Given the description of an element on the screen output the (x, y) to click on. 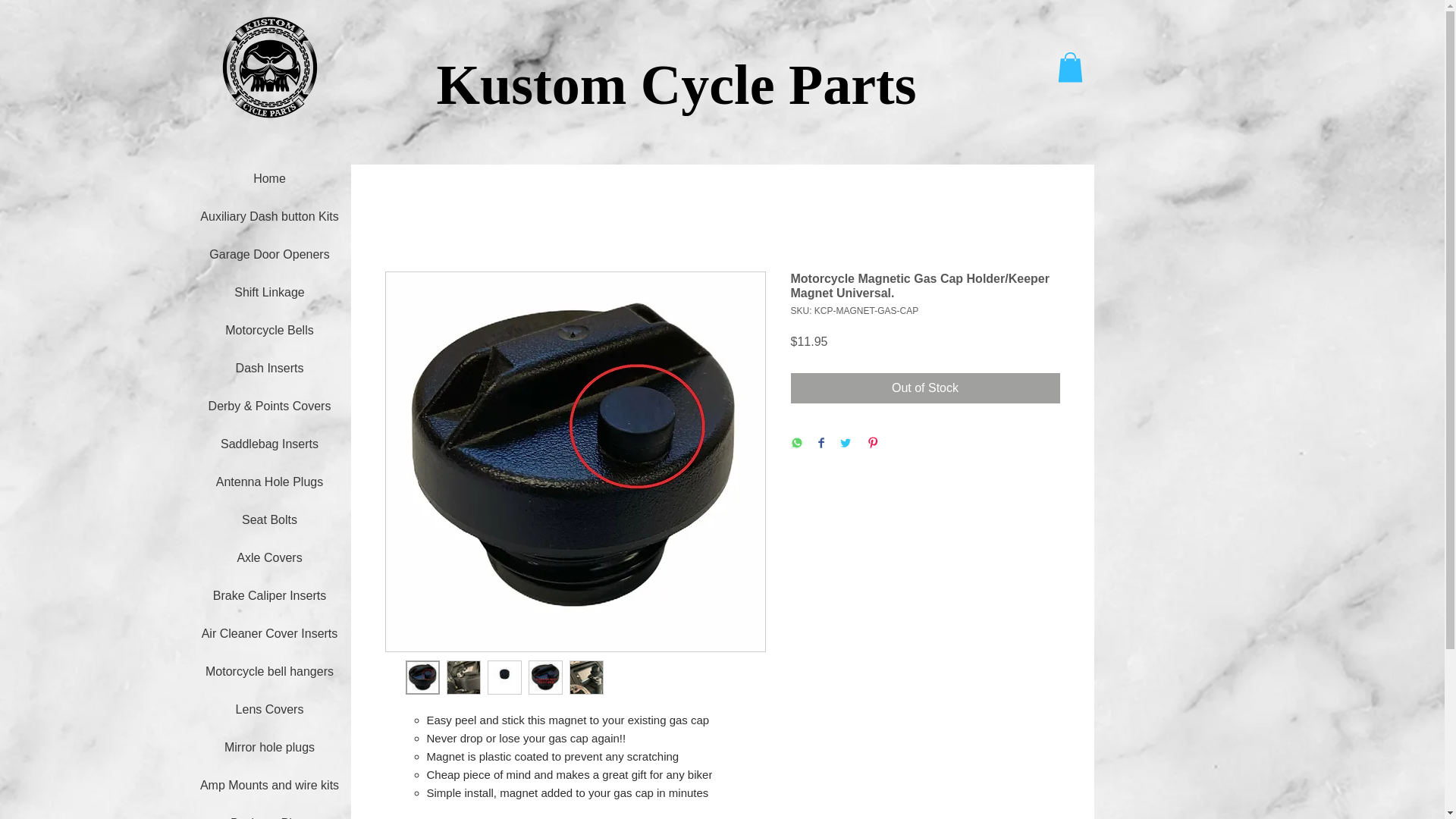
Garage Door Openers (269, 254)
Auxiliary Dash button Kits (269, 216)
Dash Inserts (269, 367)
Motorcycle Bells (269, 329)
Out of Stock (924, 388)
Home (269, 178)
Mirror hole plugs (269, 747)
Axle Covers (269, 557)
Seat Bolts (269, 519)
Brake Caliper Inserts (269, 595)
